Given the description of an element on the screen output the (x, y) to click on. 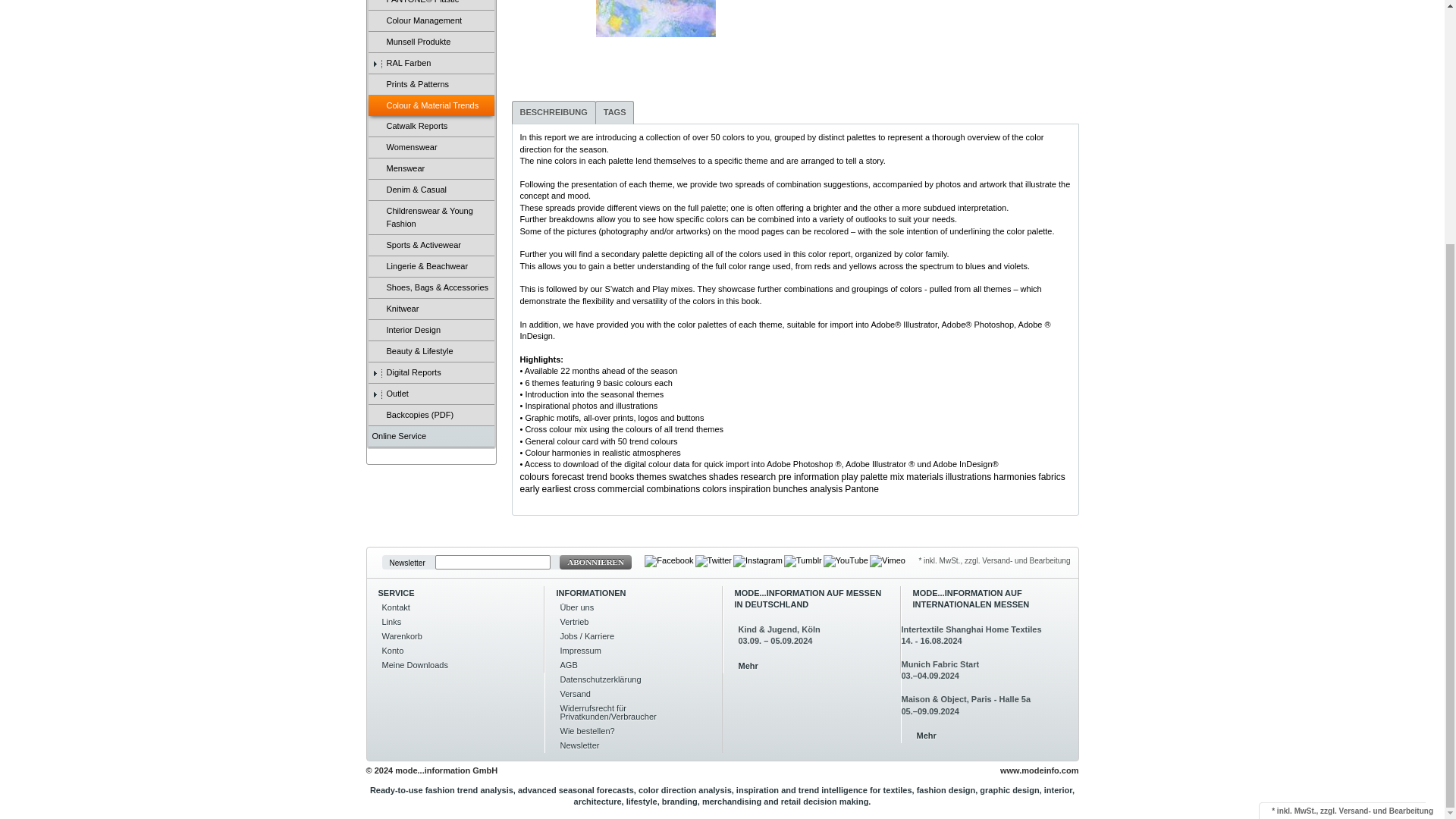
Facebook (669, 560)
RAL Farben (431, 63)
Colour Management (431, 20)
Menswear (431, 168)
Facebook (669, 561)
Twitter (713, 561)
Catwalk Reports (431, 126)
Womenswear (431, 147)
Twitter (714, 560)
Munsell Produkte (431, 42)
